Given the description of an element on the screen output the (x, y) to click on. 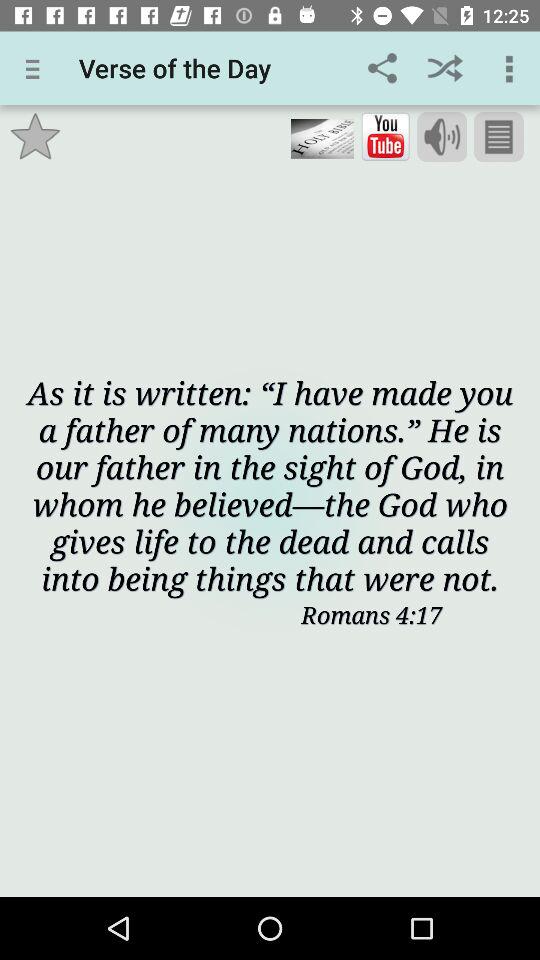
tap icon above romans 4:17 (269, 484)
